Given the description of an element on the screen output the (x, y) to click on. 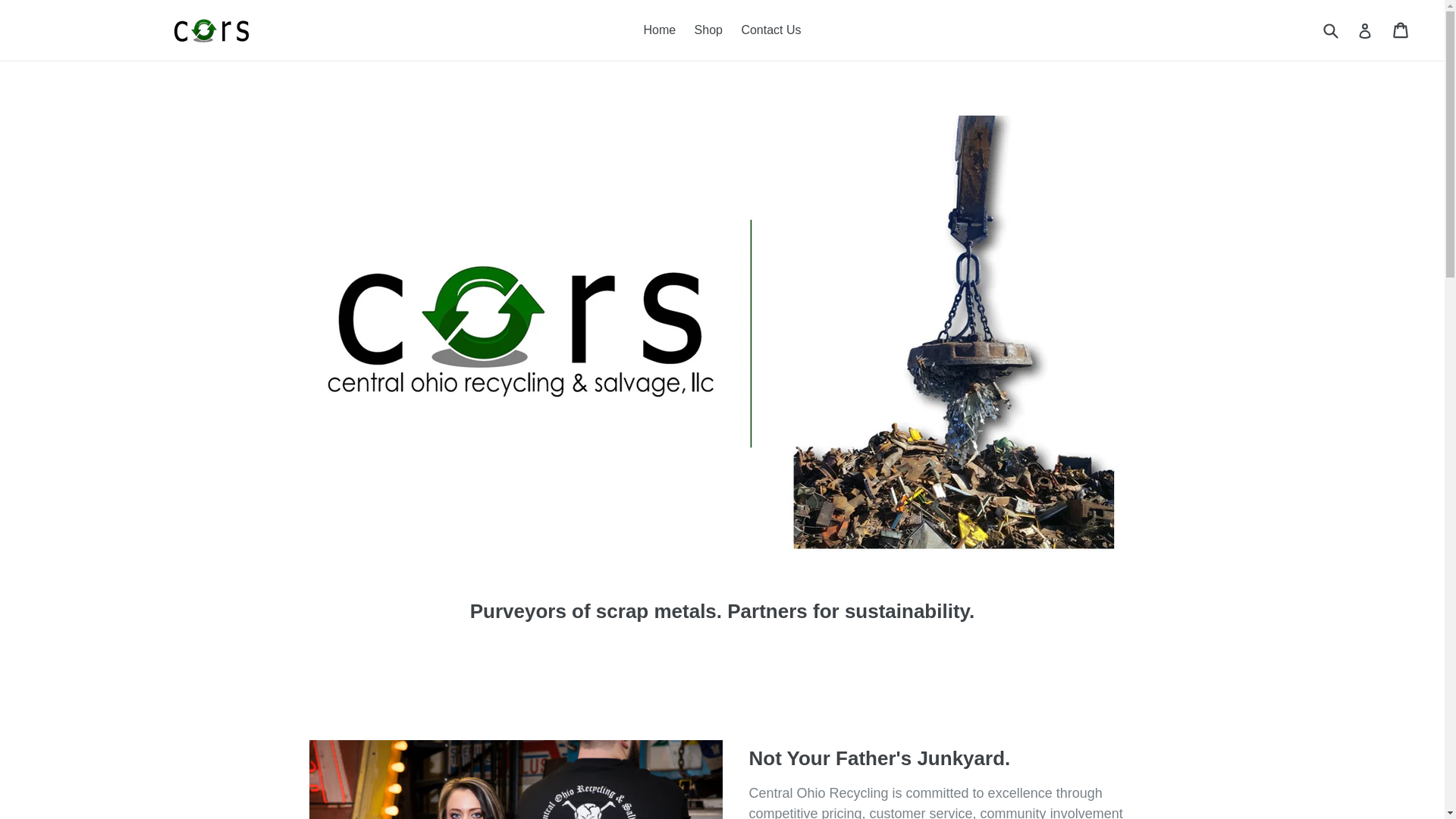
Contact Us (770, 29)
Shop (708, 29)
Home (658, 29)
